Given the description of an element on the screen output the (x, y) to click on. 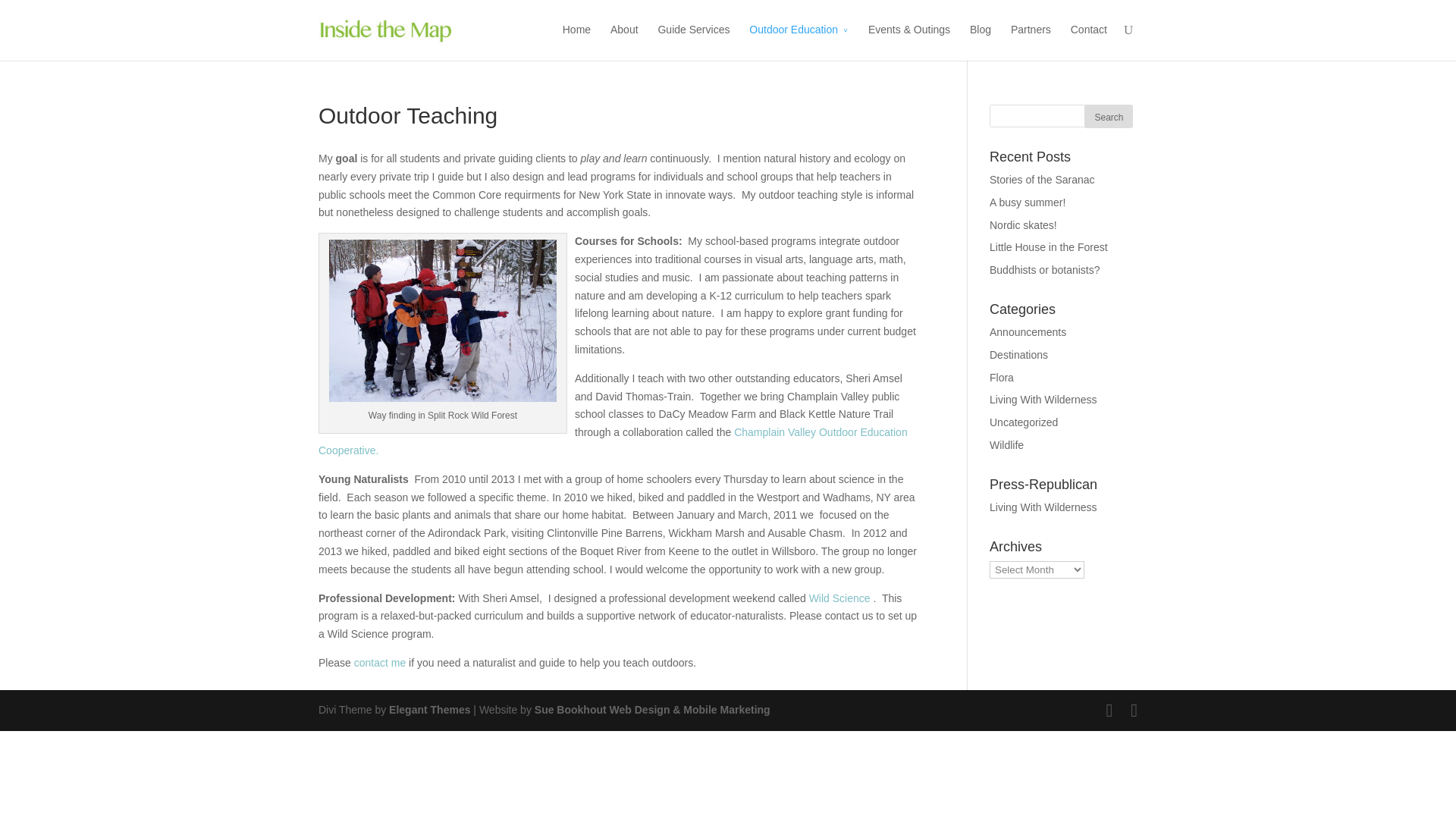
A busy summer! (1027, 202)
Outdoor Education (798, 40)
contact me (379, 662)
Nordic skates! (1023, 224)
Contact (1088, 40)
Search (1108, 115)
Flora (1001, 377)
Guide Services (693, 40)
Champlain Valley Outdoor Education Cooperative. (612, 440)
5 Sparks! at DaCy Meadow (442, 320)
Living With Wilderness (1043, 399)
Little House in the Forest (1049, 246)
Announcements (1027, 331)
Stories of the Saranac (1042, 179)
Partners (1030, 40)
